Given the description of an element on the screen output the (x, y) to click on. 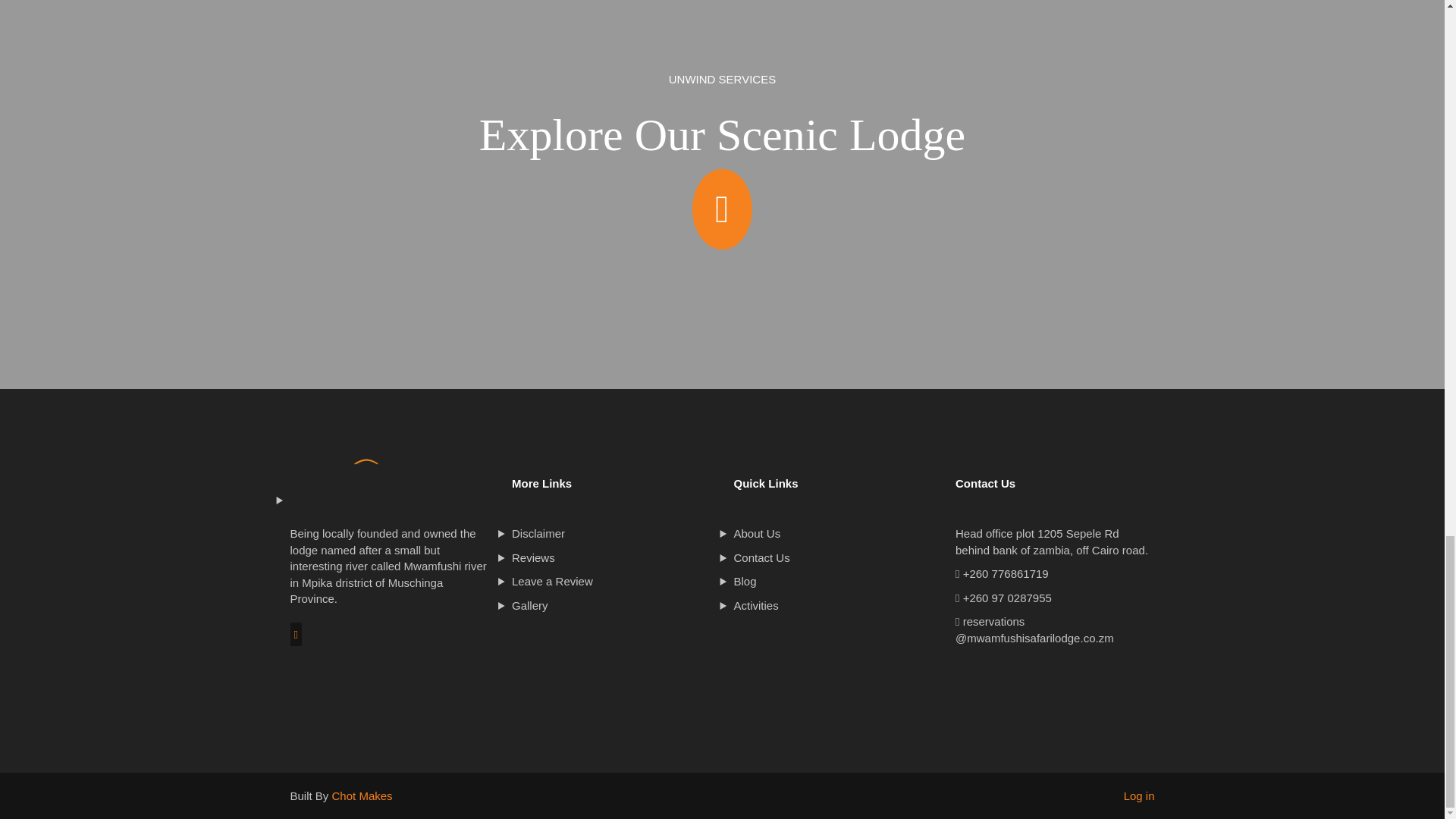
Chot Makes (362, 795)
About Us (833, 533)
Facebook (296, 634)
Log in (1139, 795)
Disclaimer (611, 533)
Activities (833, 605)
Reviews (611, 557)
Contact Us (833, 557)
Leave a Review (611, 580)
Blog (833, 580)
Facebook (295, 634)
Gallery (611, 605)
